Given the description of an element on the screen output the (x, y) to click on. 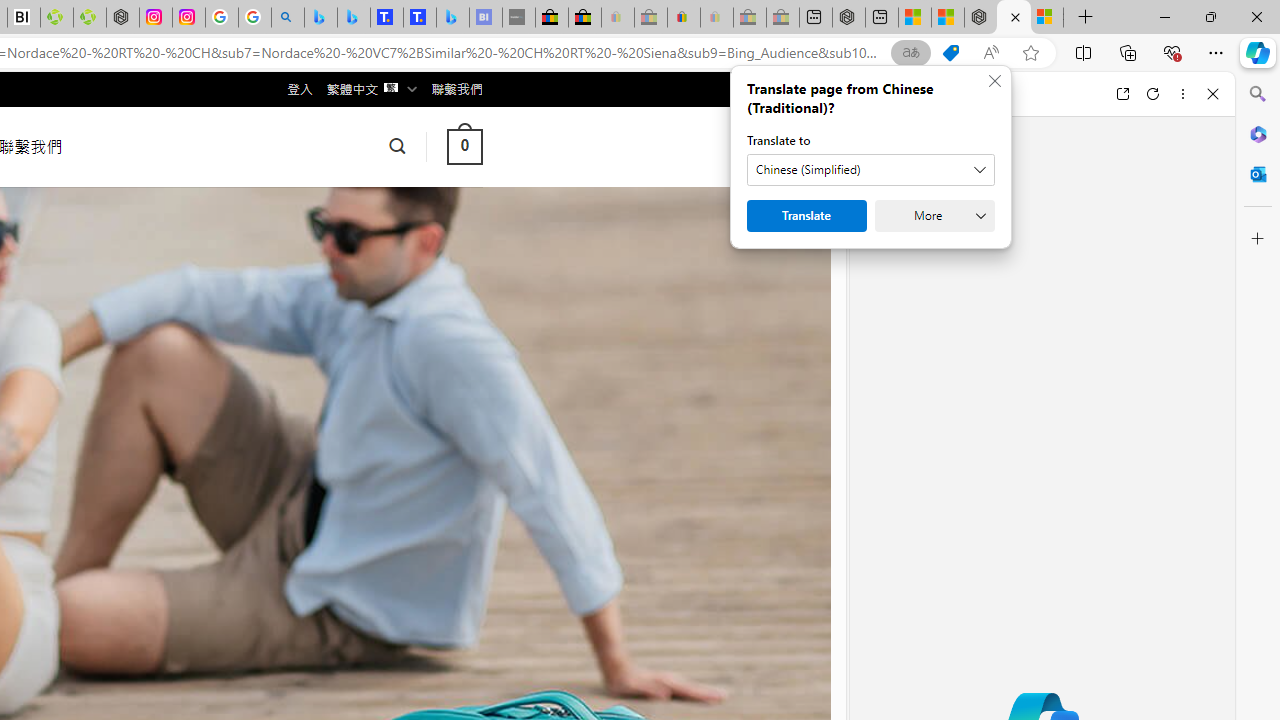
Compose (971, 93)
 0  (464, 146)
Microsoft Bing Travel - Shangri-La Hotel Bangkok (452, 17)
More (934, 215)
Payments Terms of Use | eBay.com - Sleeping (717, 17)
Press Room - eBay Inc. - Sleeping (749, 17)
This site has coupons! Shopping in Microsoft Edge (950, 53)
Translate to (870, 169)
